Given the description of an element on the screen output the (x, y) to click on. 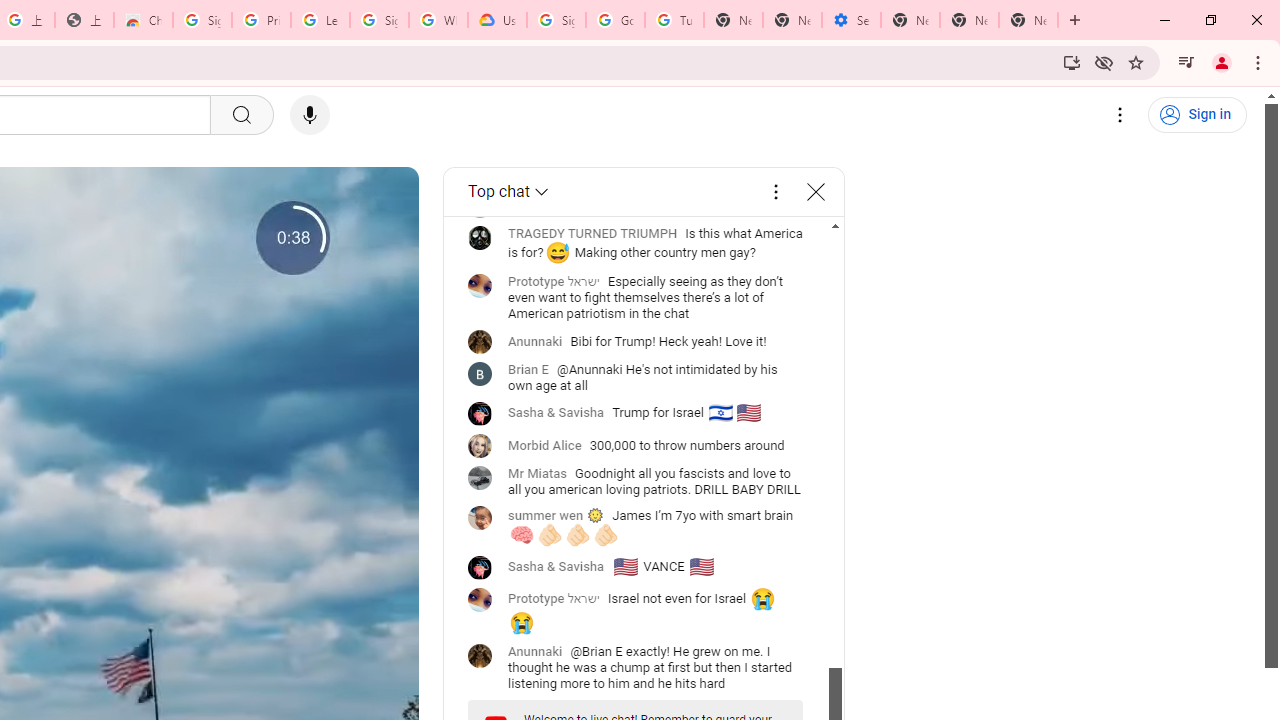
Sign in - Google Accounts (201, 20)
Live Chat mode selection (510, 191)
